Given the description of an element on the screen output the (x, y) to click on. 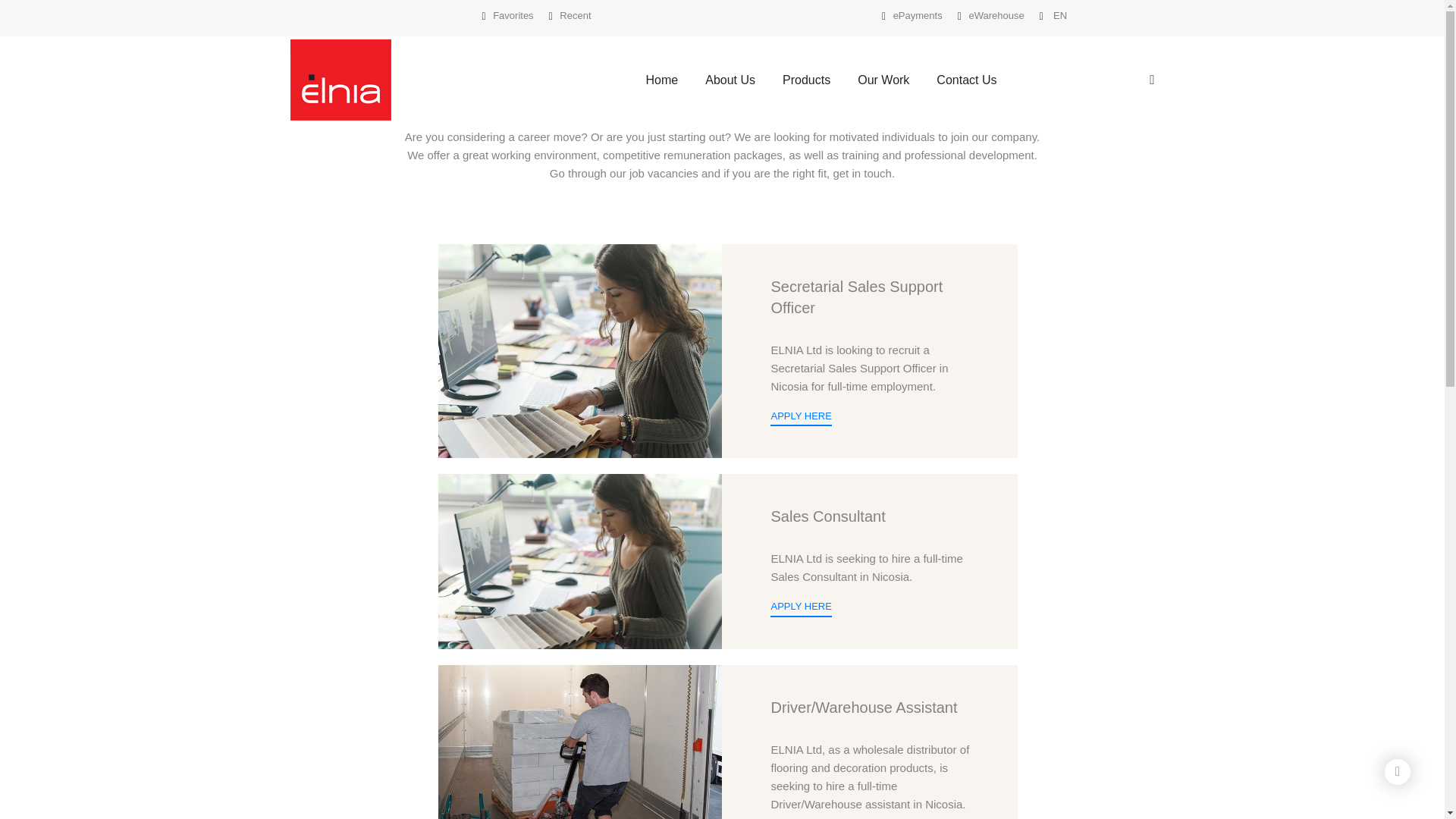
Favorites (507, 15)
ePayments (912, 15)
About Us (729, 80)
Recent (569, 15)
EN (1053, 15)
eWarehouse (991, 15)
